Given the description of an element on the screen output the (x, y) to click on. 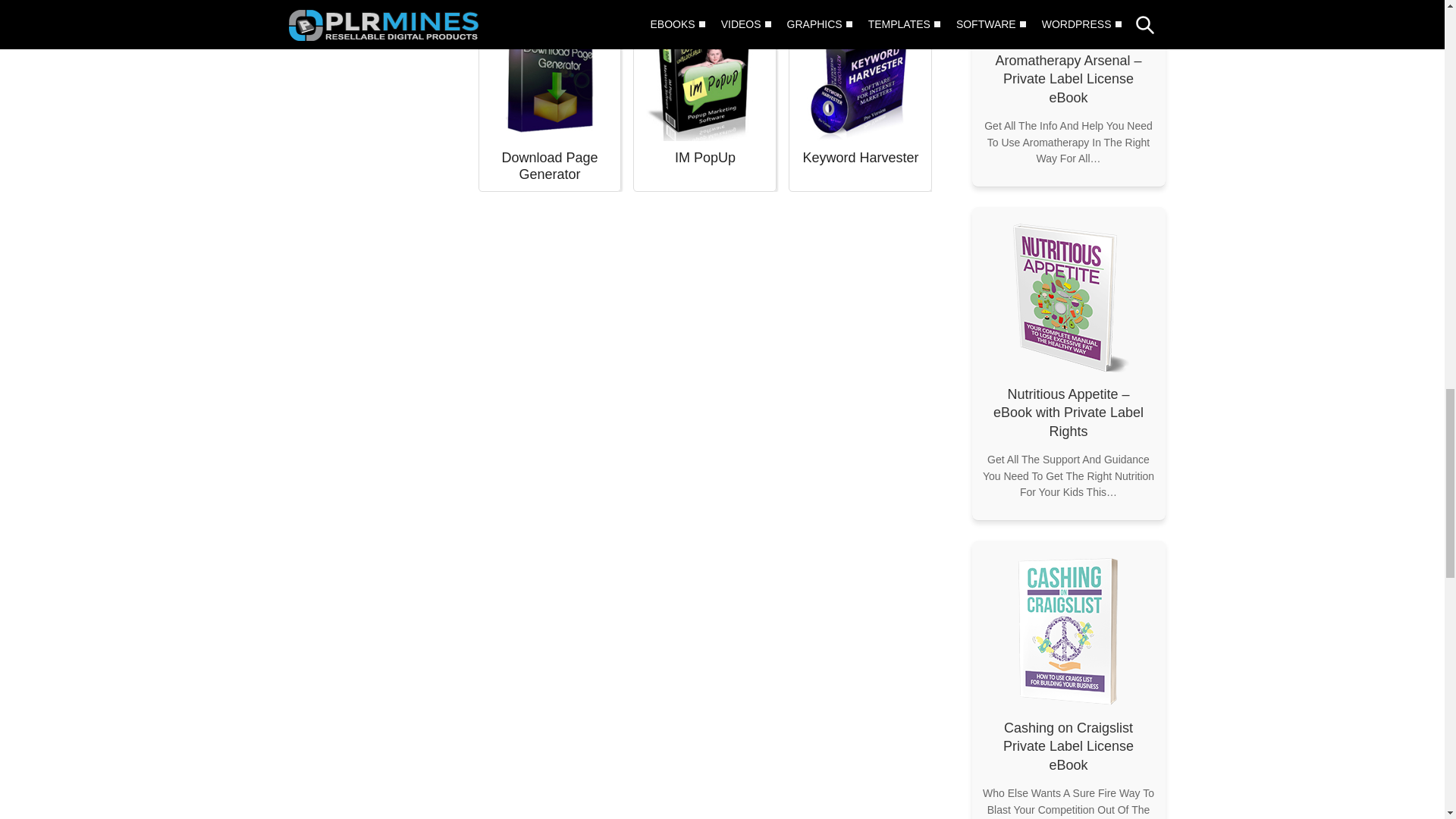
IM PopUp (705, 77)
Keyword Harvester (859, 77)
Cashing on Craigslist Private Label License eBook (1068, 631)
Download Page Generator (549, 77)
